Given the description of an element on the screen output the (x, y) to click on. 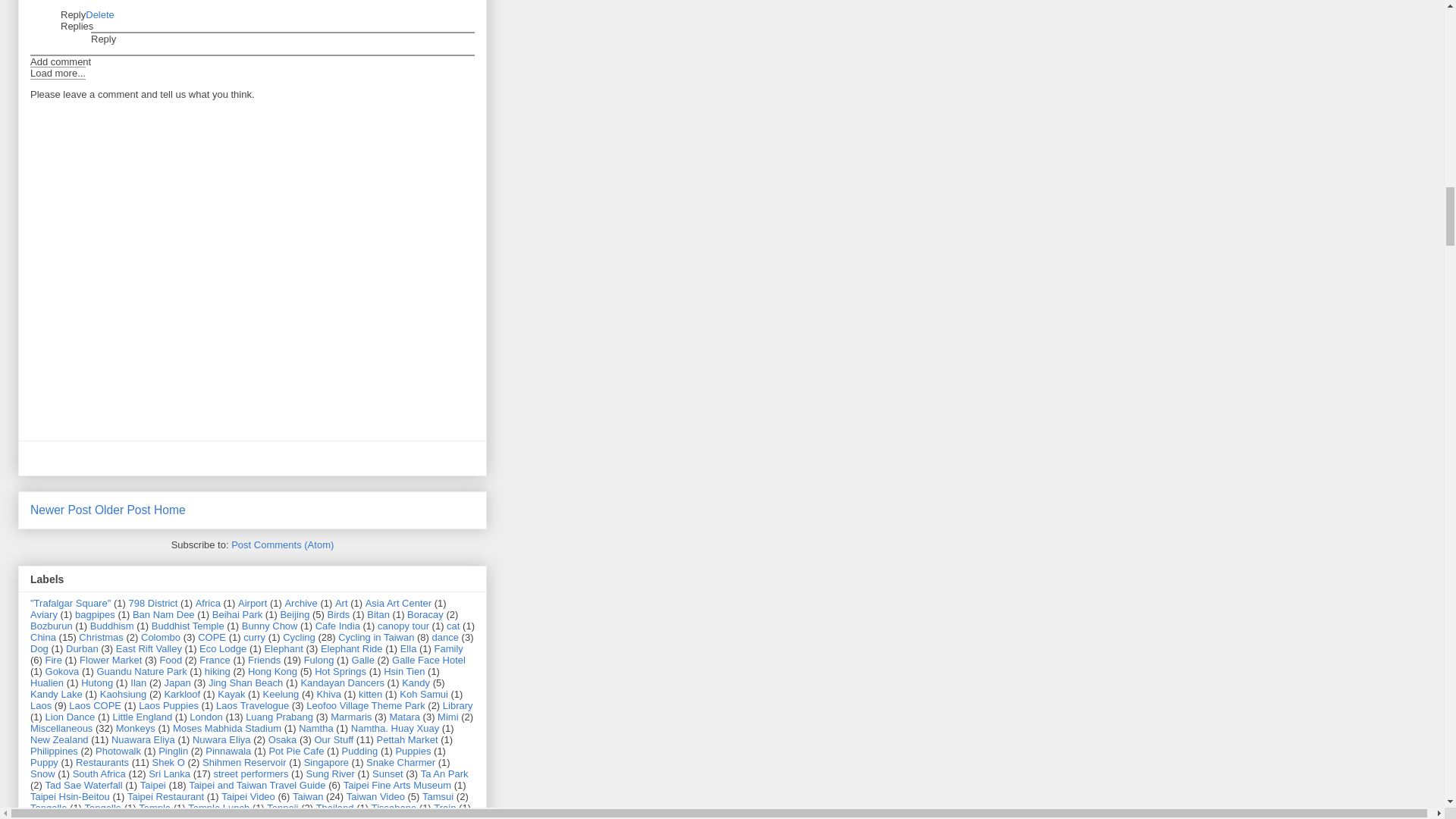
Older Post (122, 509)
Home (170, 509)
Reply (73, 14)
Load more... (57, 72)
Reply (103, 39)
Newer Post (60, 509)
Newer Post (60, 509)
Replies (77, 25)
Older Post (122, 509)
Add comment (60, 61)
Delete (100, 14)
